Given the description of an element on the screen output the (x, y) to click on. 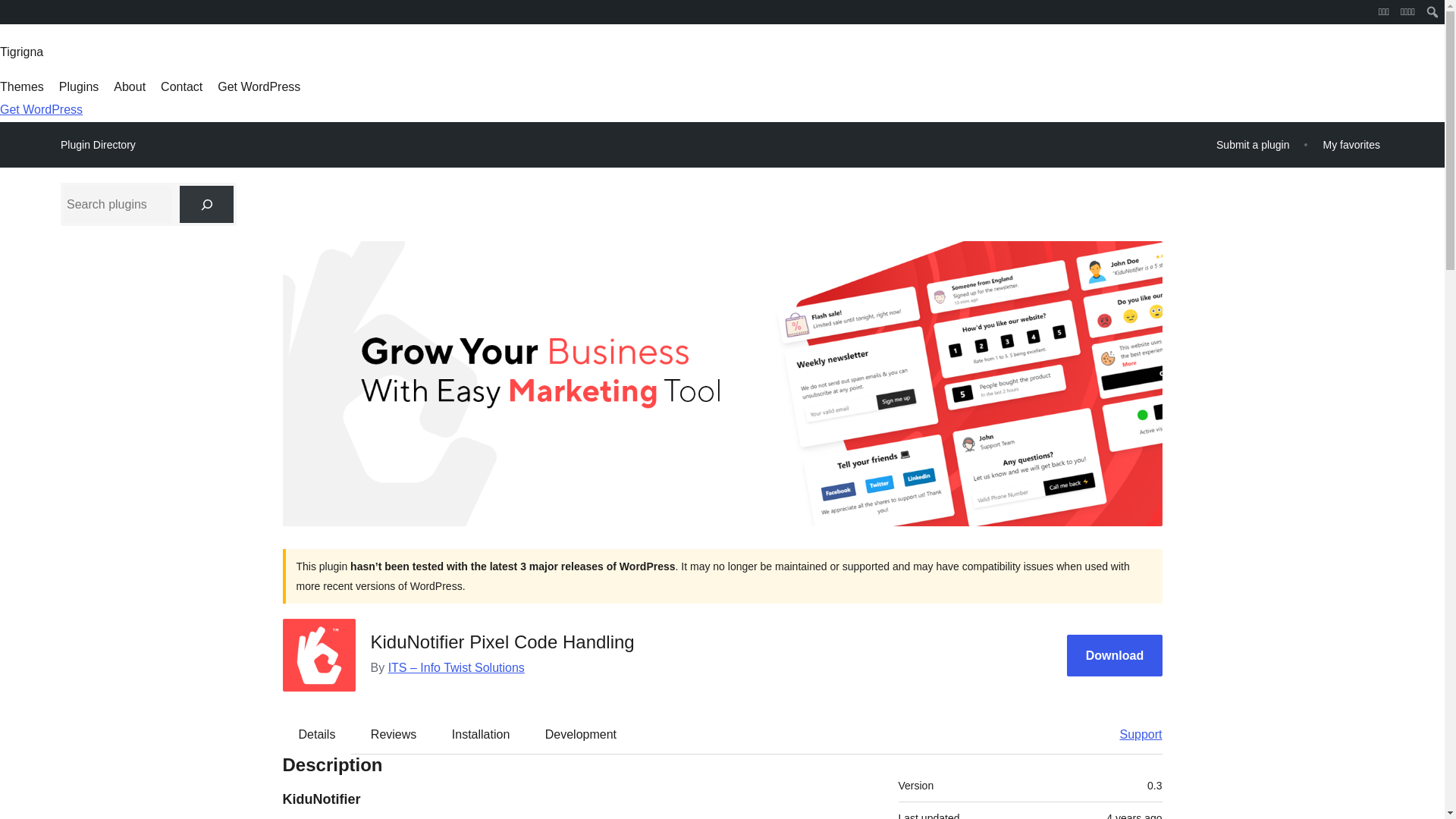
Get WordPress (257, 87)
Contact (181, 87)
Submit a plugin (1253, 144)
About (129, 87)
Installation (480, 733)
Plugins (79, 87)
Development (580, 733)
Download (1114, 655)
WordPress.org (10, 10)
Reviews (392, 733)
